Given the description of an element on the screen output the (x, y) to click on. 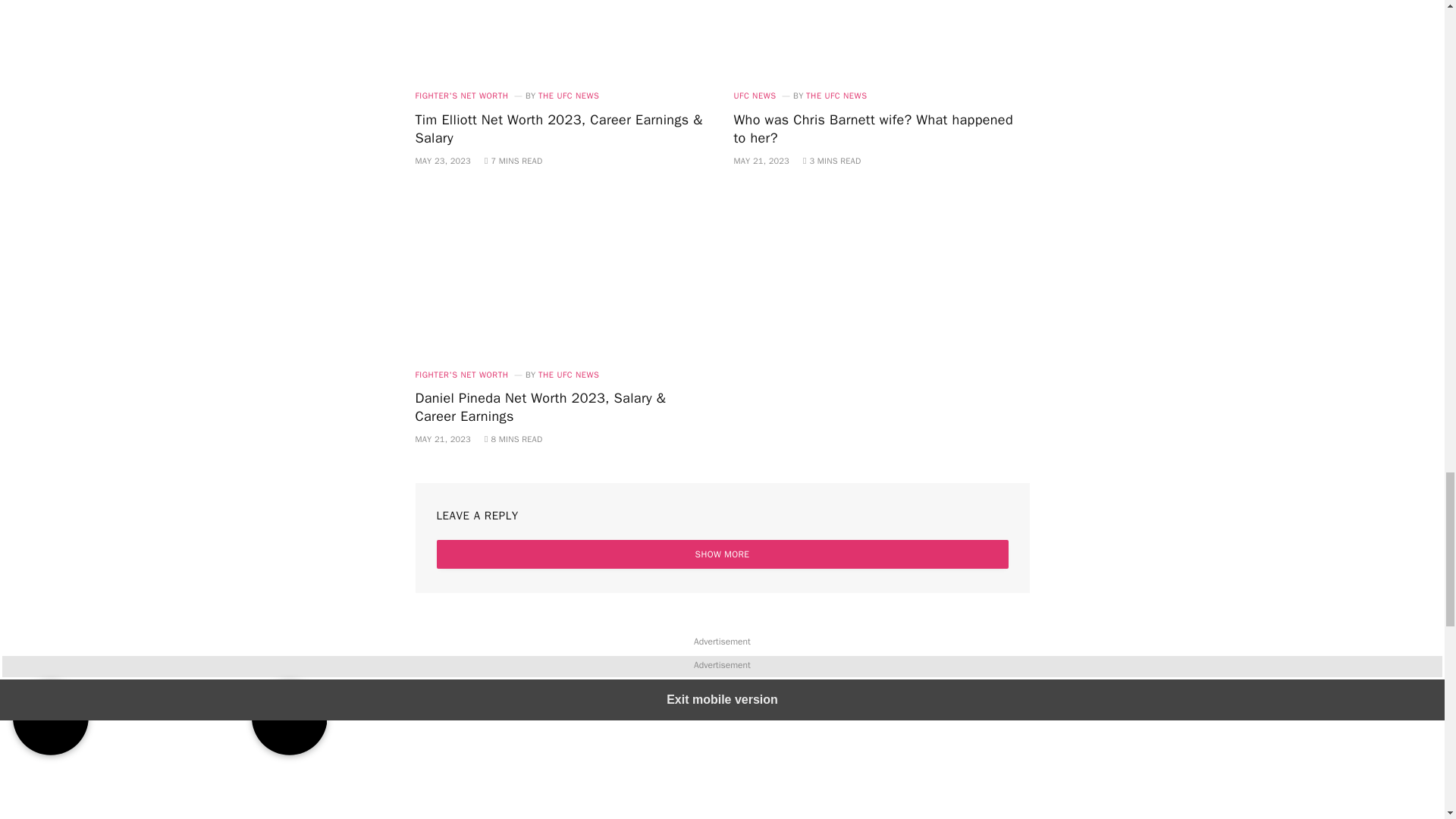
UFC NEWS (754, 95)
Posts by THE UFC News (568, 95)
Who was Chris Barnett wife? What happened to her? (881, 38)
Who was Chris Barnett wife? What happened to her? (881, 129)
Posts by THE UFC News (836, 95)
THE UFC NEWS (836, 95)
THE UFC NEWS (568, 95)
FIGHTER'S NET WORTH (461, 95)
Posts by THE UFC News (568, 374)
